Given the description of an element on the screen output the (x, y) to click on. 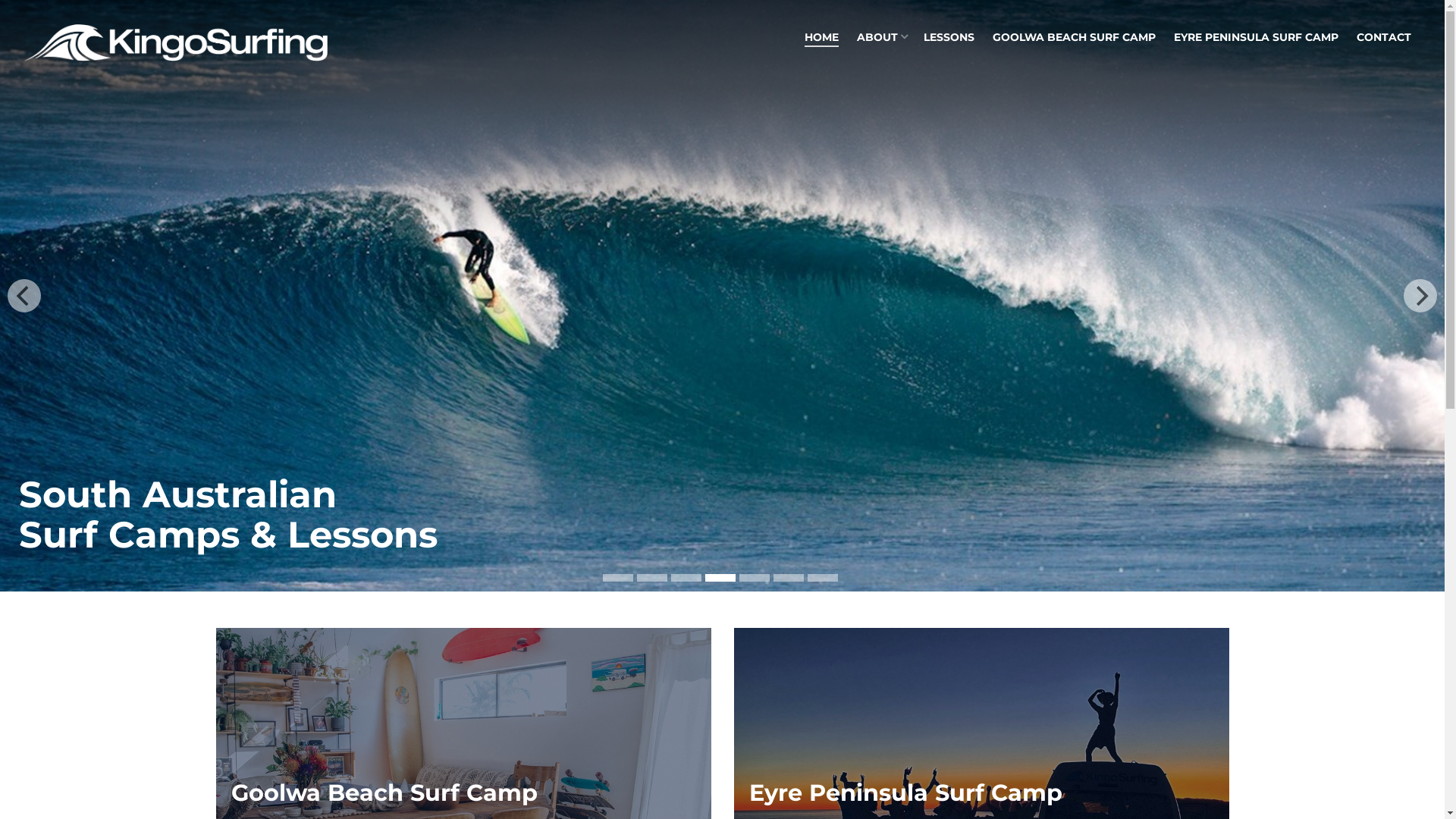
ABOUT Element type: text (880, 37)
LESSONS Element type: text (948, 37)
CONTACT Element type: text (1383, 37)
GOOLWA BEACH SURF CAMP Element type: text (1073, 37)
EYRE PENINSULA SURF CAMP Element type: text (1255, 37)
HOME Element type: text (821, 38)
